Given the description of an element on the screen output the (x, y) to click on. 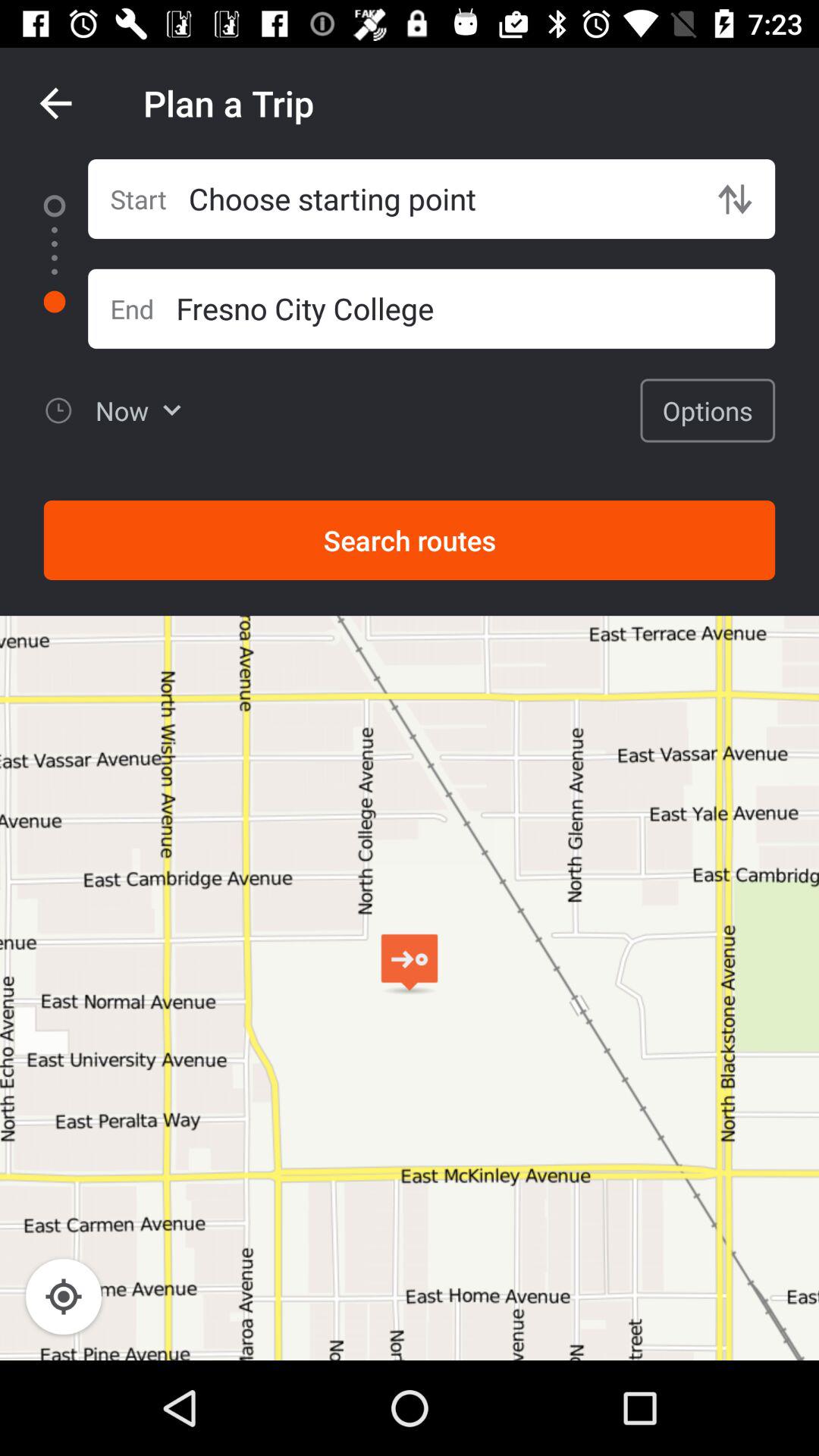
swipe to the fresno city college icon (475, 308)
